Given the description of an element on the screen output the (x, y) to click on. 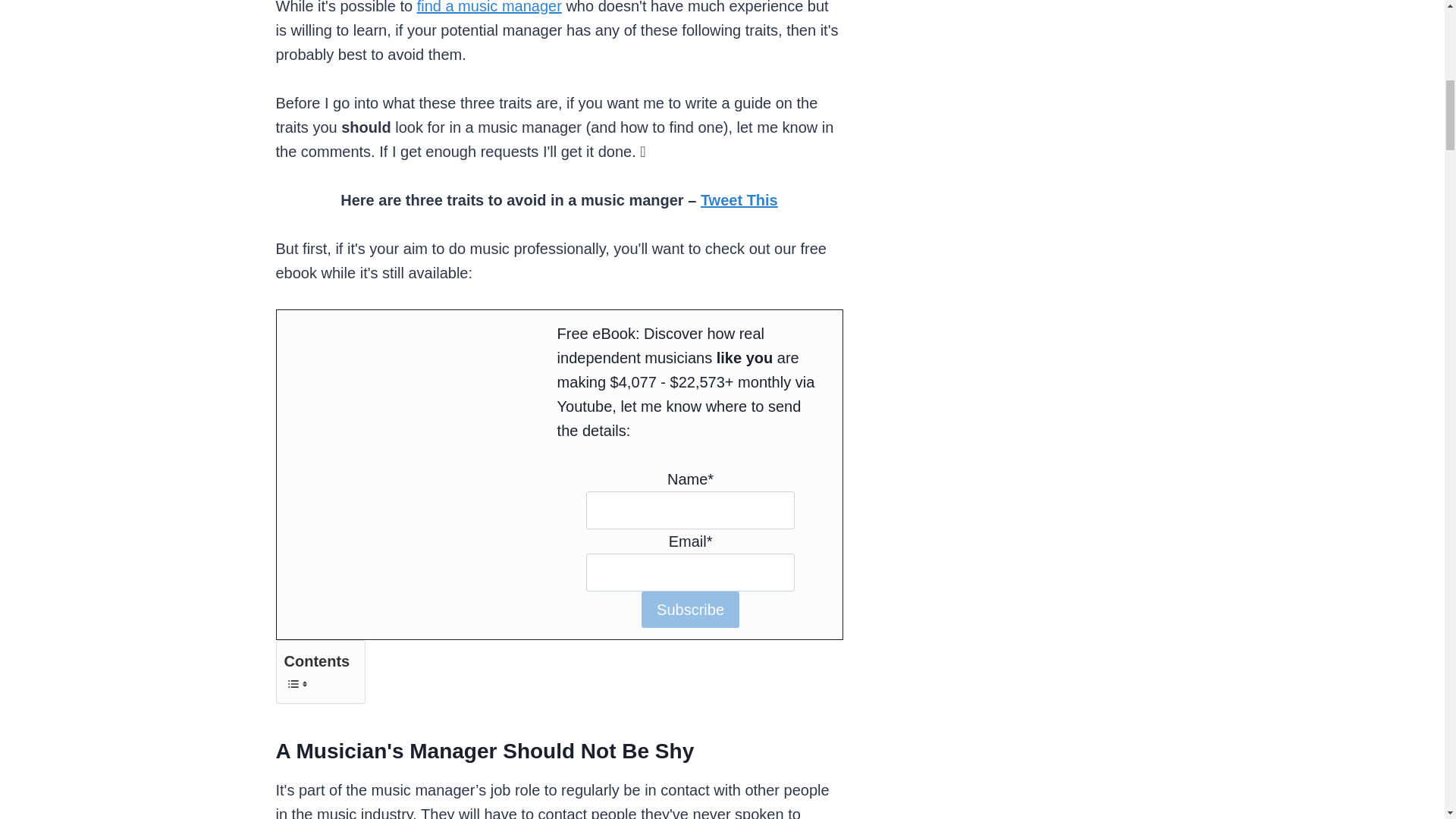
Tweet This (738, 199)
Subscribe (690, 609)
find a music manager (489, 7)
